Given the description of an element on the screen output the (x, y) to click on. 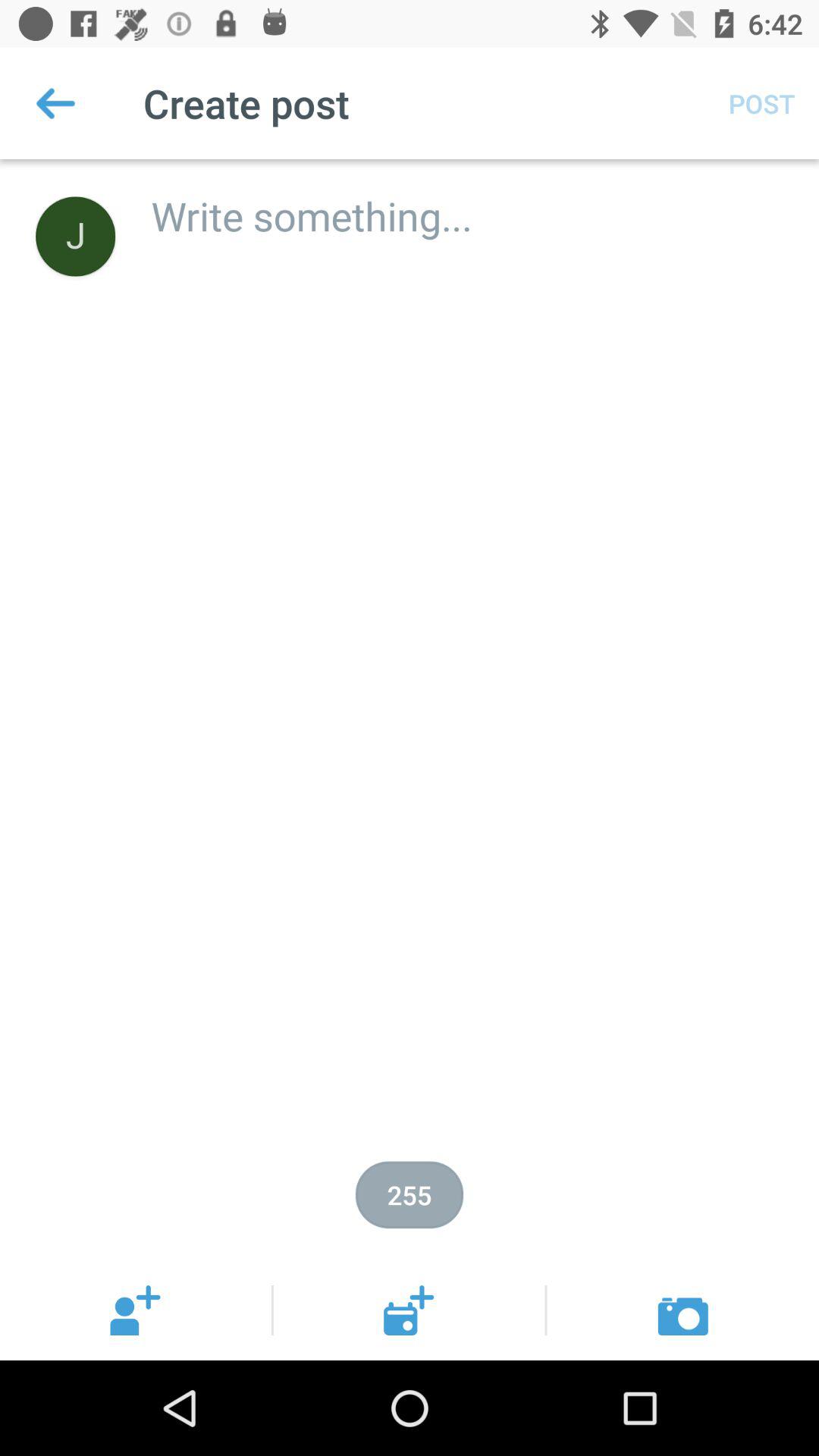
jump until 255 item (409, 1194)
